Given the description of an element on the screen output the (x, y) to click on. 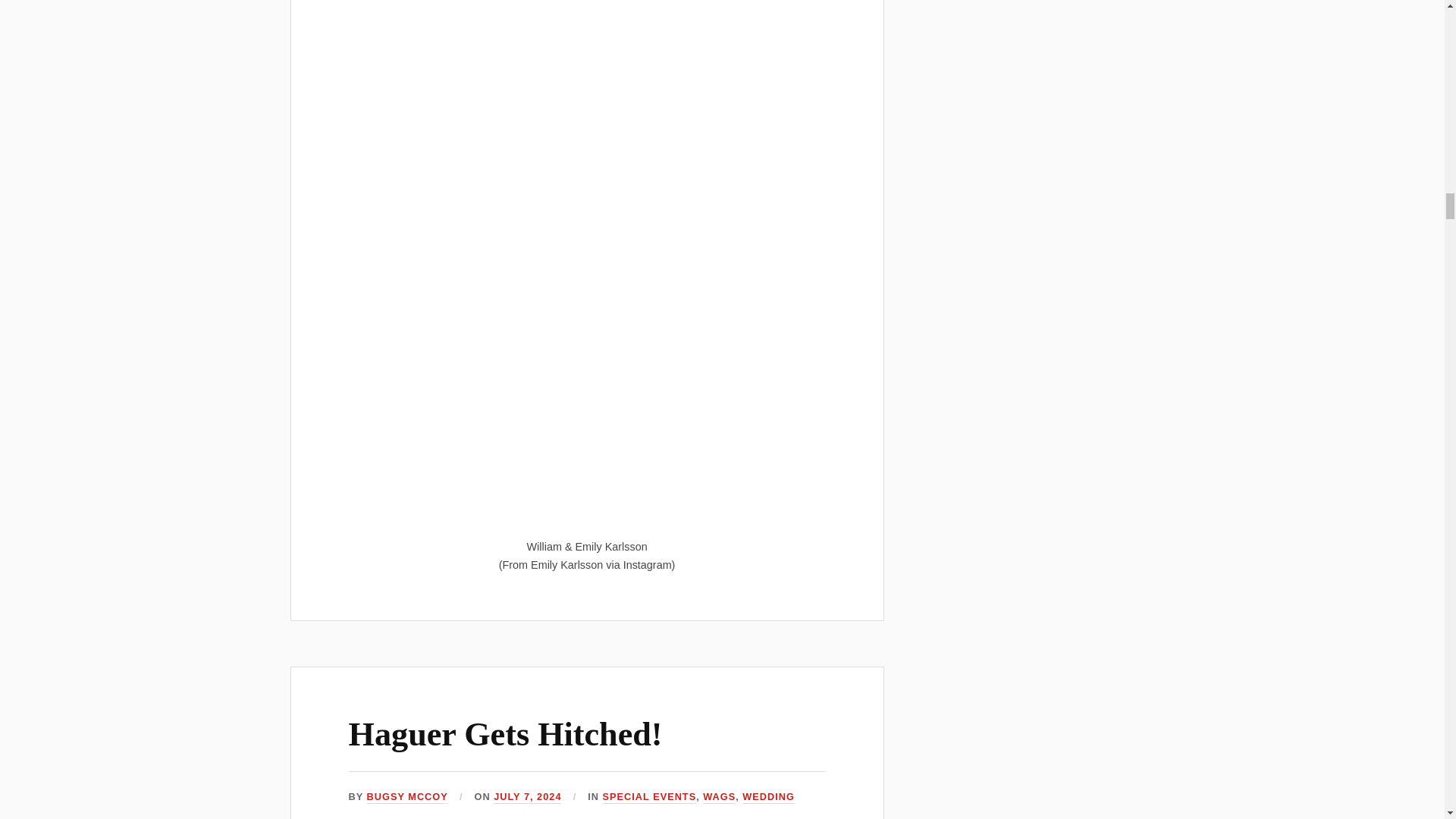
BUGSY MCCOY (407, 797)
Posts by Bugsy McCoy (407, 797)
WAGS (719, 797)
Haguer Gets Hitched! (505, 733)
WEDDING (768, 797)
JULY 7, 2024 (526, 797)
SPECIAL EVENTS (649, 797)
